Given the description of an element on the screen output the (x, y) to click on. 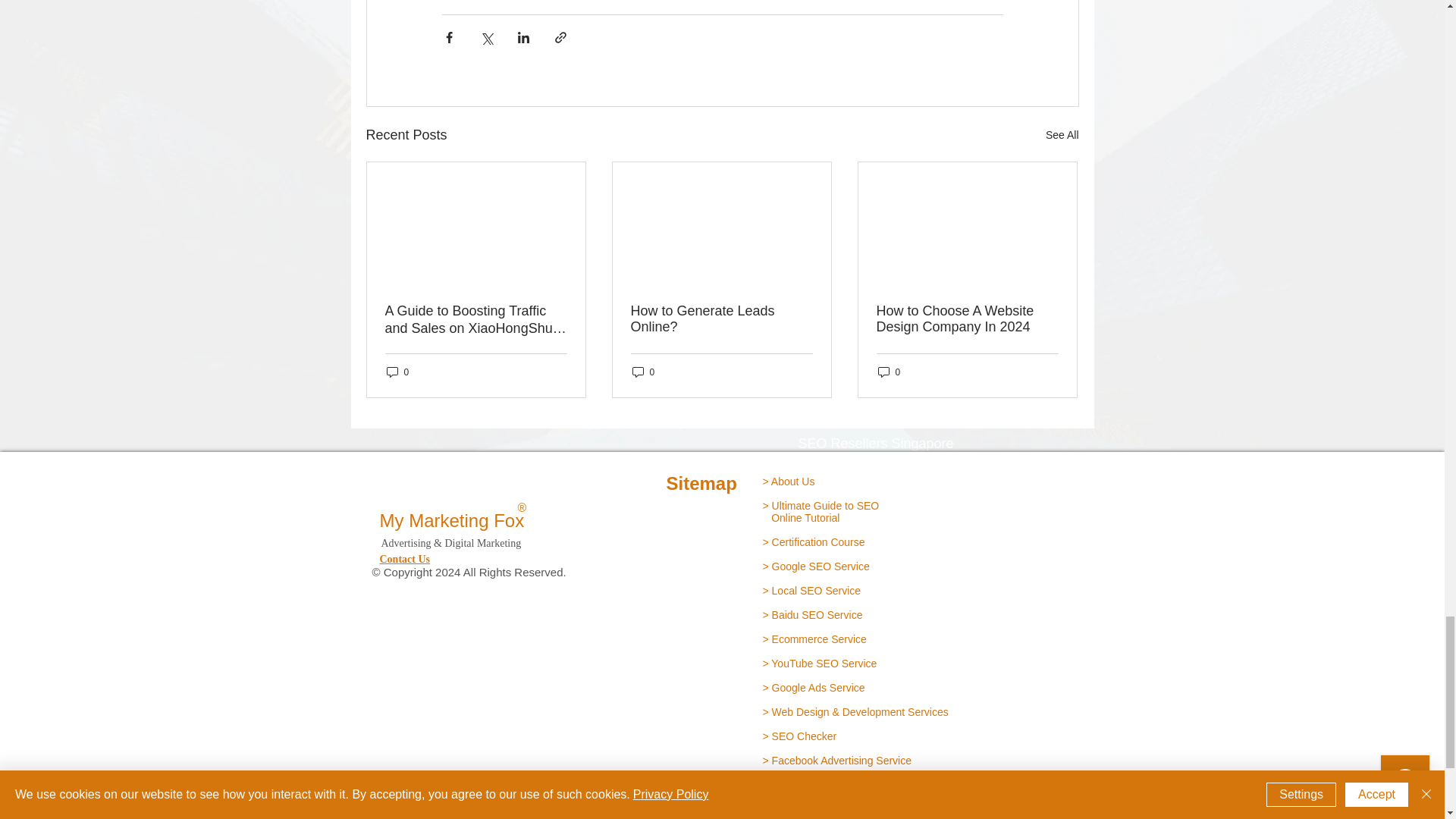
See All (1061, 135)
0 (397, 371)
